Given the description of an element on the screen output the (x, y) to click on. 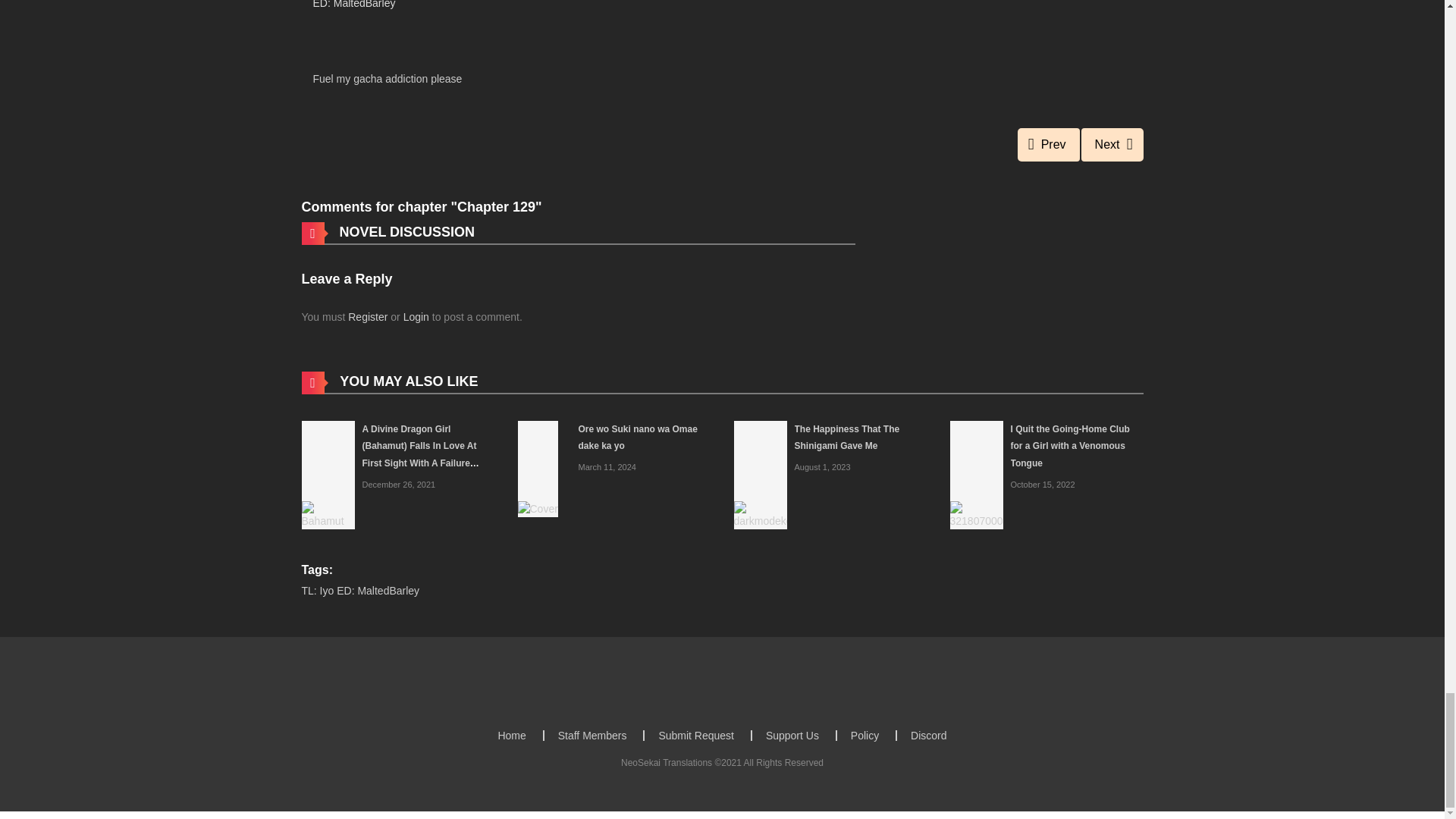
I Quit the Going-Home Club for a Girl with a Venomous Tongue (1069, 446)
I Quit the Going-Home Club for a Girl with a Venomous Tongue (976, 473)
Next (1111, 144)
Login (416, 316)
The Happiness That The Shinigami Gave Me (846, 438)
Ore wo Suki nano wa Omae dake ka yo (637, 438)
The Happiness That The Shinigami Gave Me (846, 438)
Chapter 128 (1048, 144)
Register (367, 316)
Chapter 130 (1111, 144)
